Given the description of an element on the screen output the (x, y) to click on. 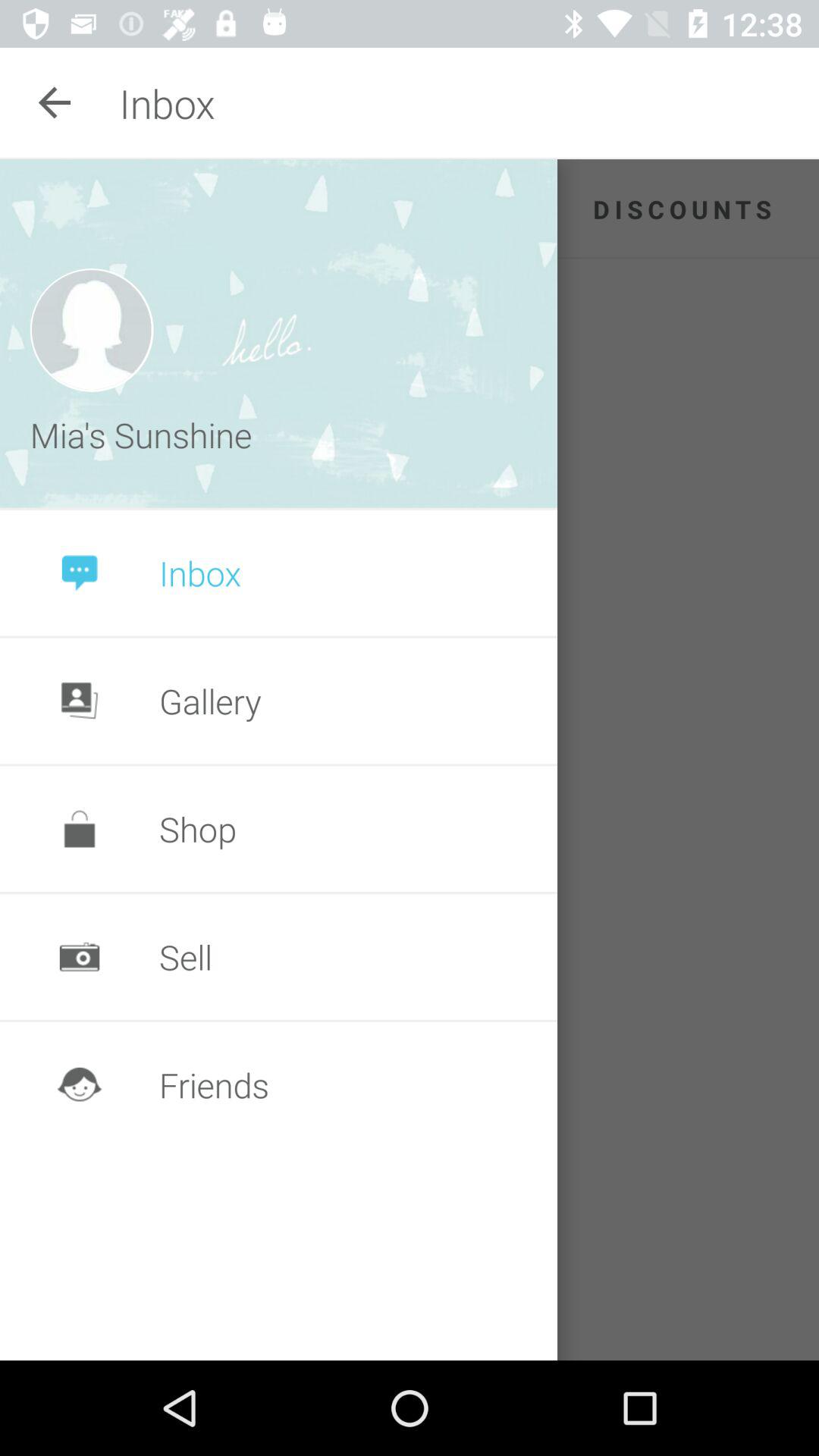
click the item to the left of the inbox (55, 103)
